Given the description of an element on the screen output the (x, y) to click on. 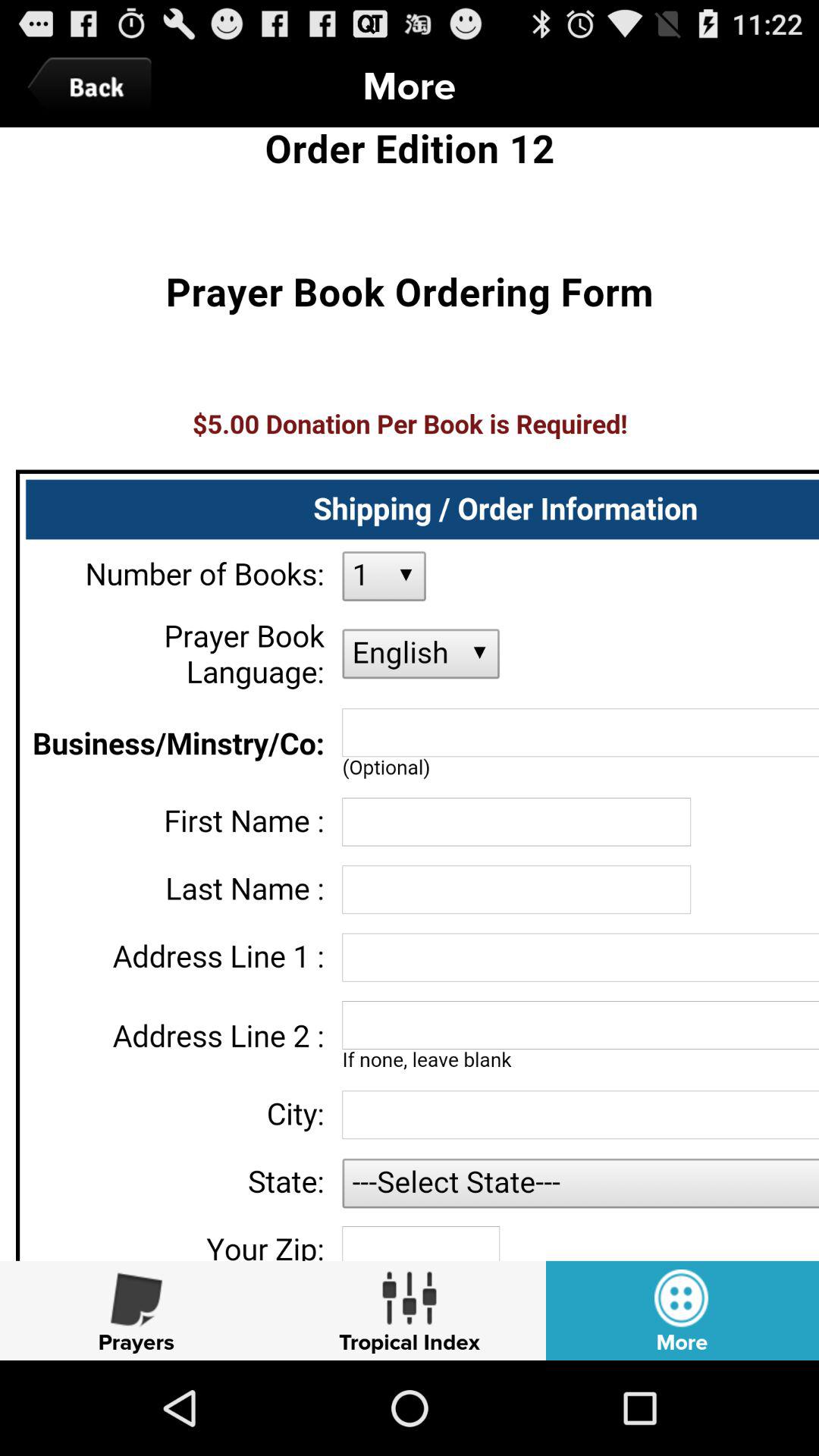
go to back (93, 87)
